Given the description of an element on the screen output the (x, y) to click on. 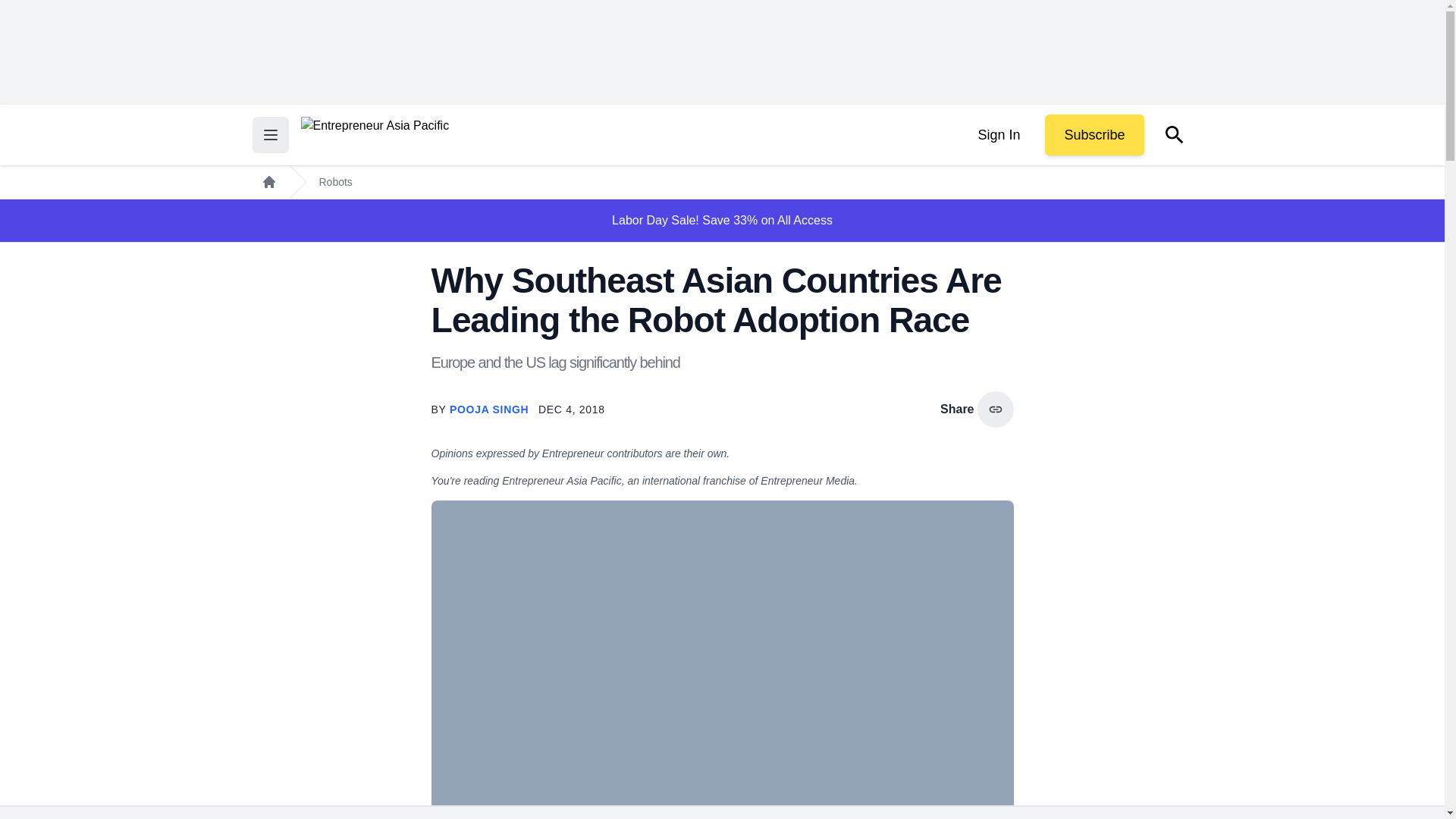
Subscribe (1093, 134)
Return to the home page (373, 135)
copy (994, 409)
Sign In (998, 134)
